Given the description of an element on the screen output the (x, y) to click on. 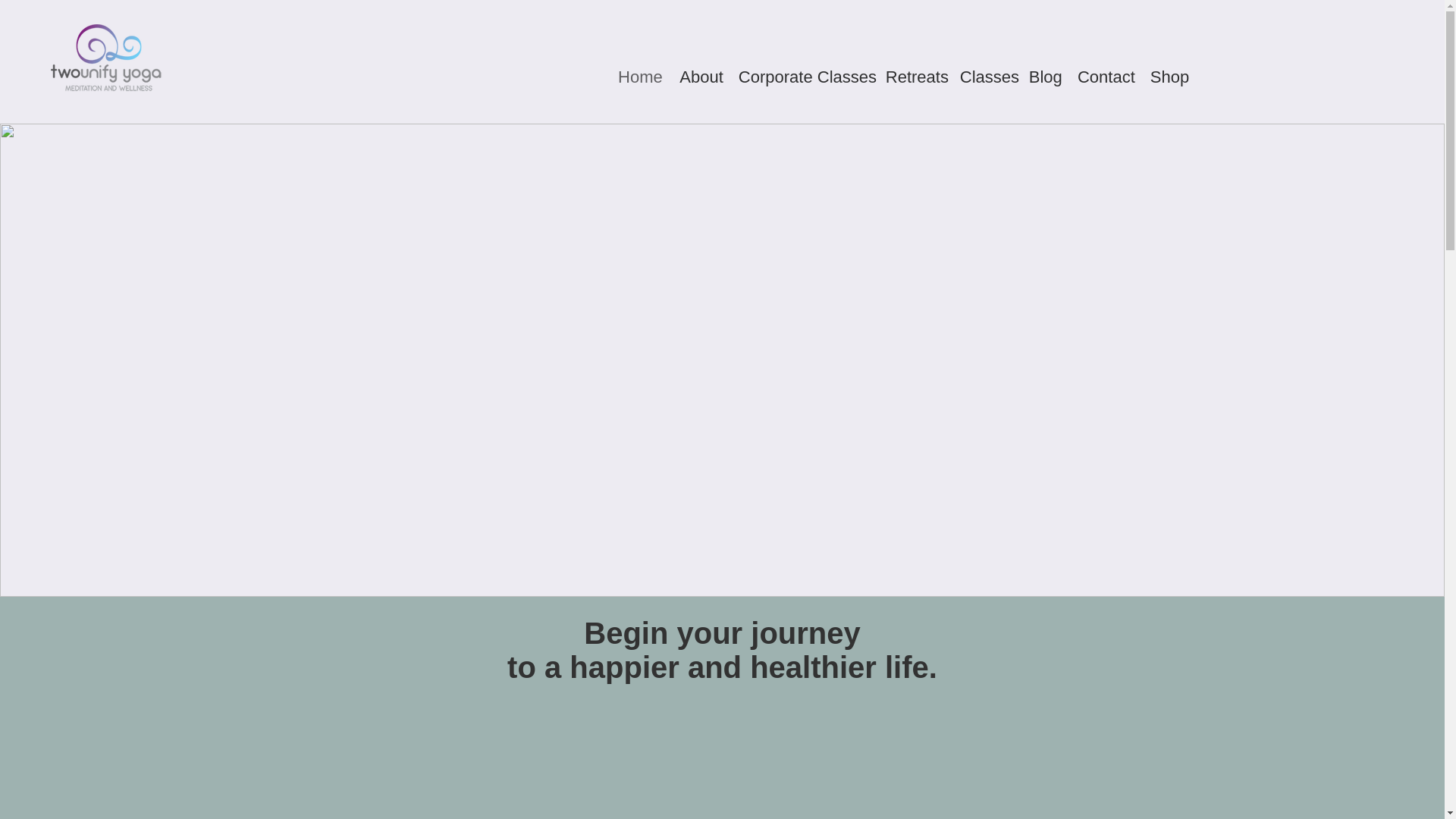
Contact (1106, 77)
Blog (1045, 77)
About (699, 77)
Classes (986, 77)
Home (639, 77)
Retreats (914, 77)
Corporate Classes (803, 77)
Shop (1168, 77)
